Given the description of an element on the screen output the (x, y) to click on. 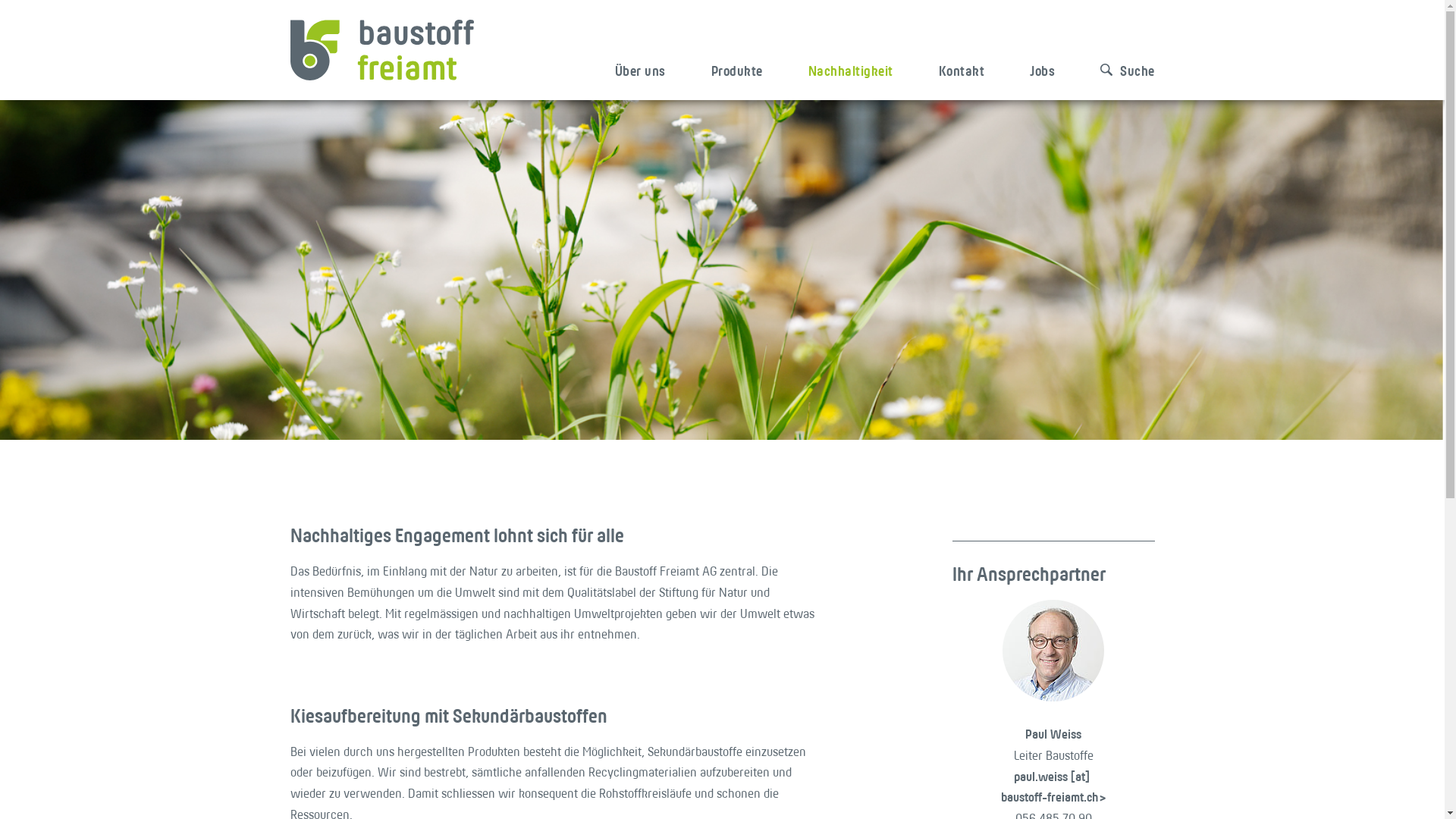
Suche Element type: text (1115, 65)
Home Element type: hover (381, 48)
Kontakt Element type: text (961, 65)
Produkte Element type: text (736, 65)
Nachhaltigkeit Element type: text (850, 65)
Jobs Element type: text (1042, 65)
